Given the description of an element on the screen output the (x, y) to click on. 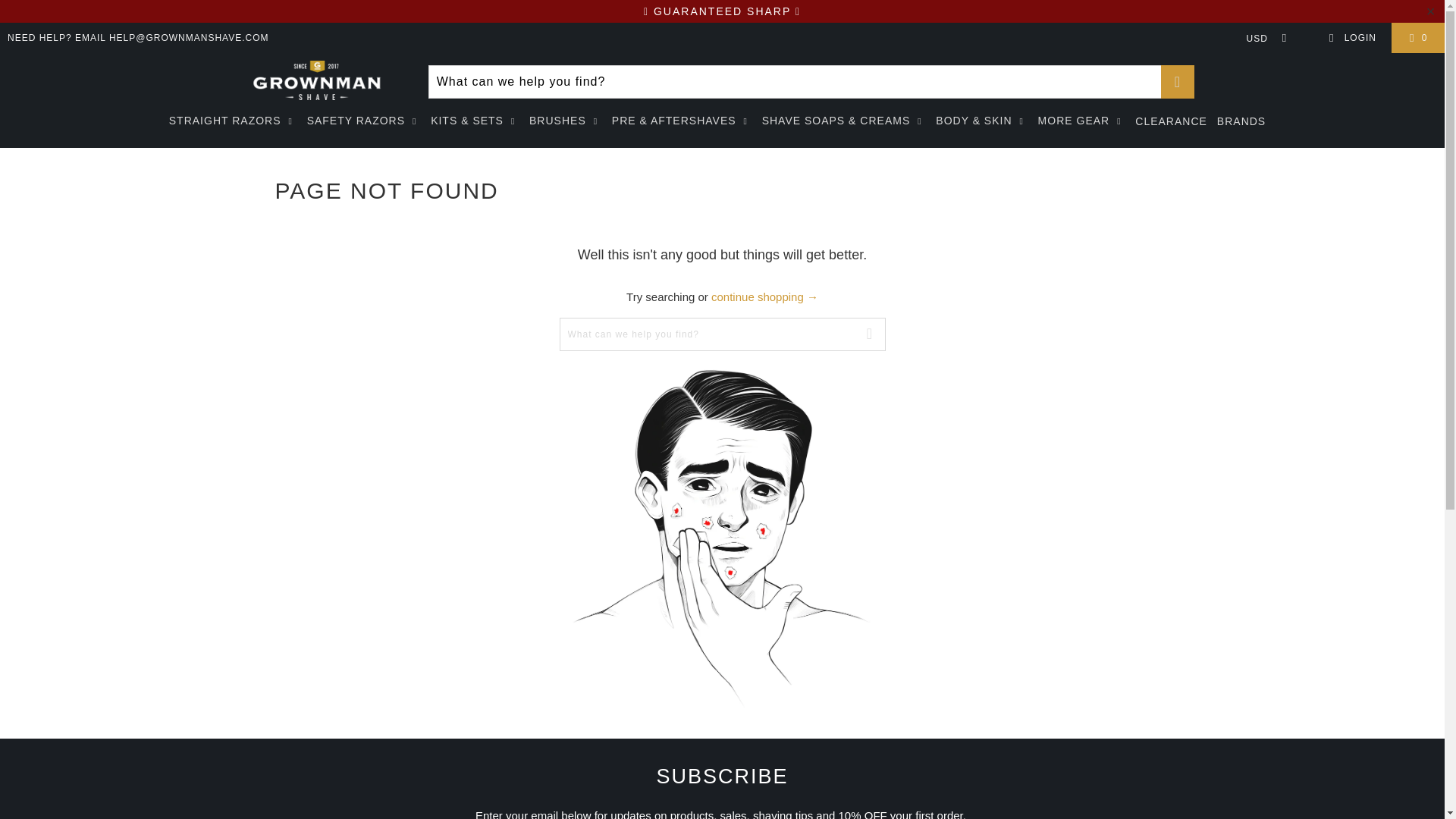
All products (764, 296)
My Account  (1350, 37)
Grown Man Shave (316, 81)
